Given the description of an element on the screen output the (x, y) to click on. 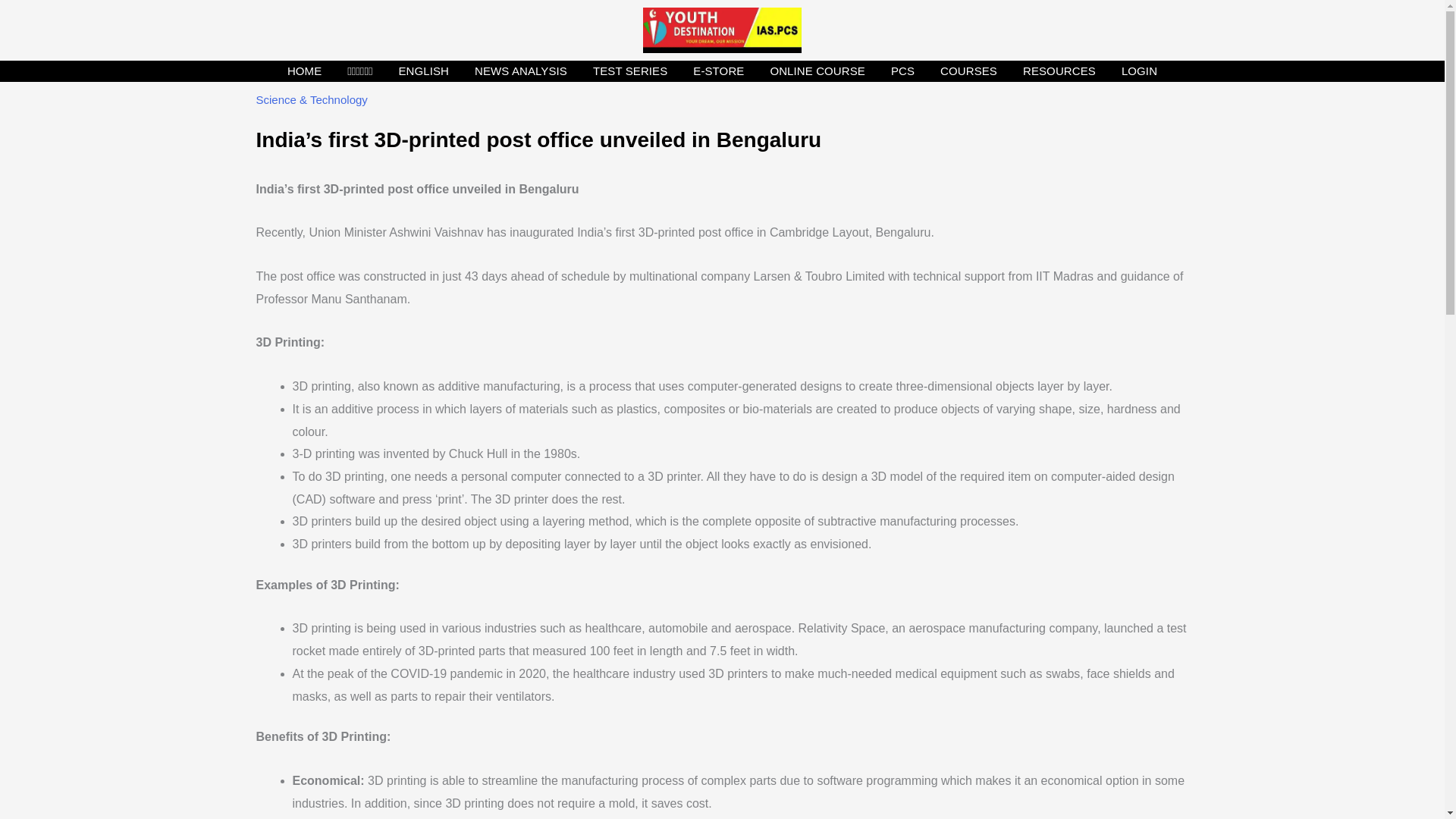
ENGLISH (423, 71)
HOME (304, 71)
TEST SERIES (629, 71)
NEWS ANALYSIS (520, 71)
